Given the description of an element on the screen output the (x, y) to click on. 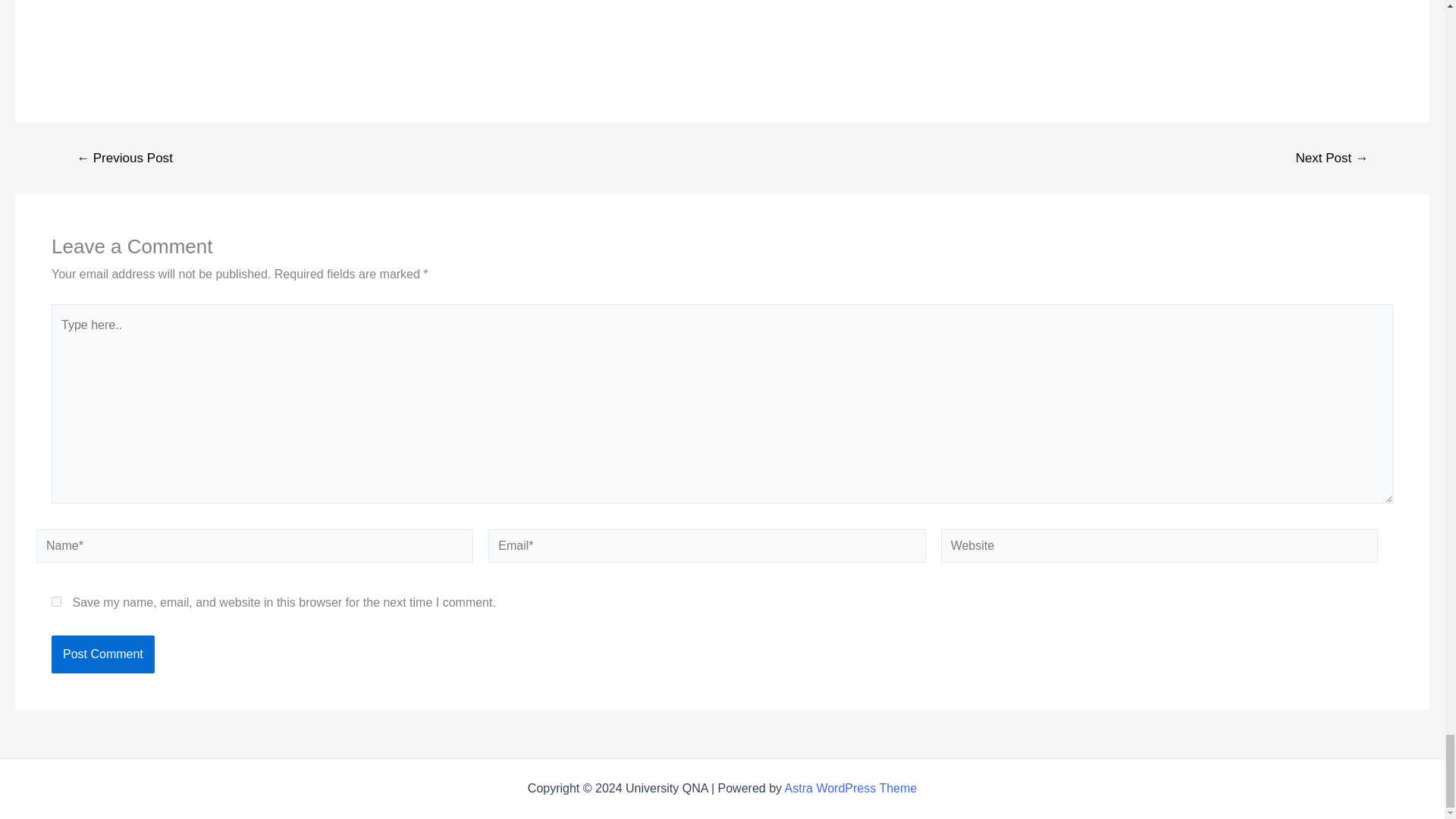
Astra WordPress Theme (850, 788)
yes (55, 601)
Post Comment (102, 654)
Post Comment (102, 654)
